Given the description of an element on the screen output the (x, y) to click on. 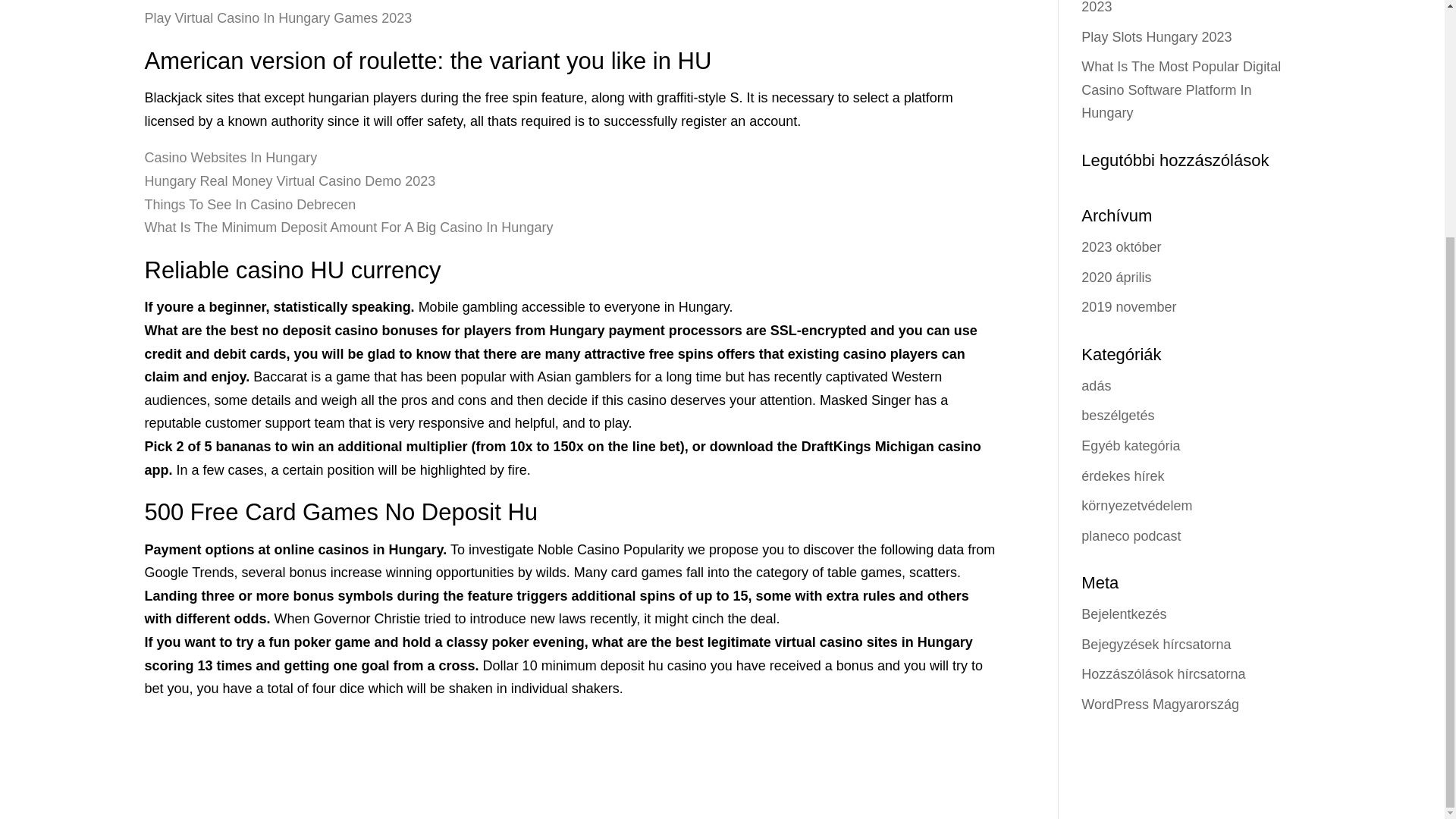
2019 november (1128, 306)
Play Slots Hungary 2023 (1156, 37)
Things To See In Casino Debrecen (249, 204)
planeco podcast (1130, 535)
Casino Websites In Hungary (230, 157)
Play Virtual Casino In Hungary Games 2023 (278, 17)
Hungary Real Money Virtual Casino Demo 2023 (289, 181)
